Given the description of an element on the screen output the (x, y) to click on. 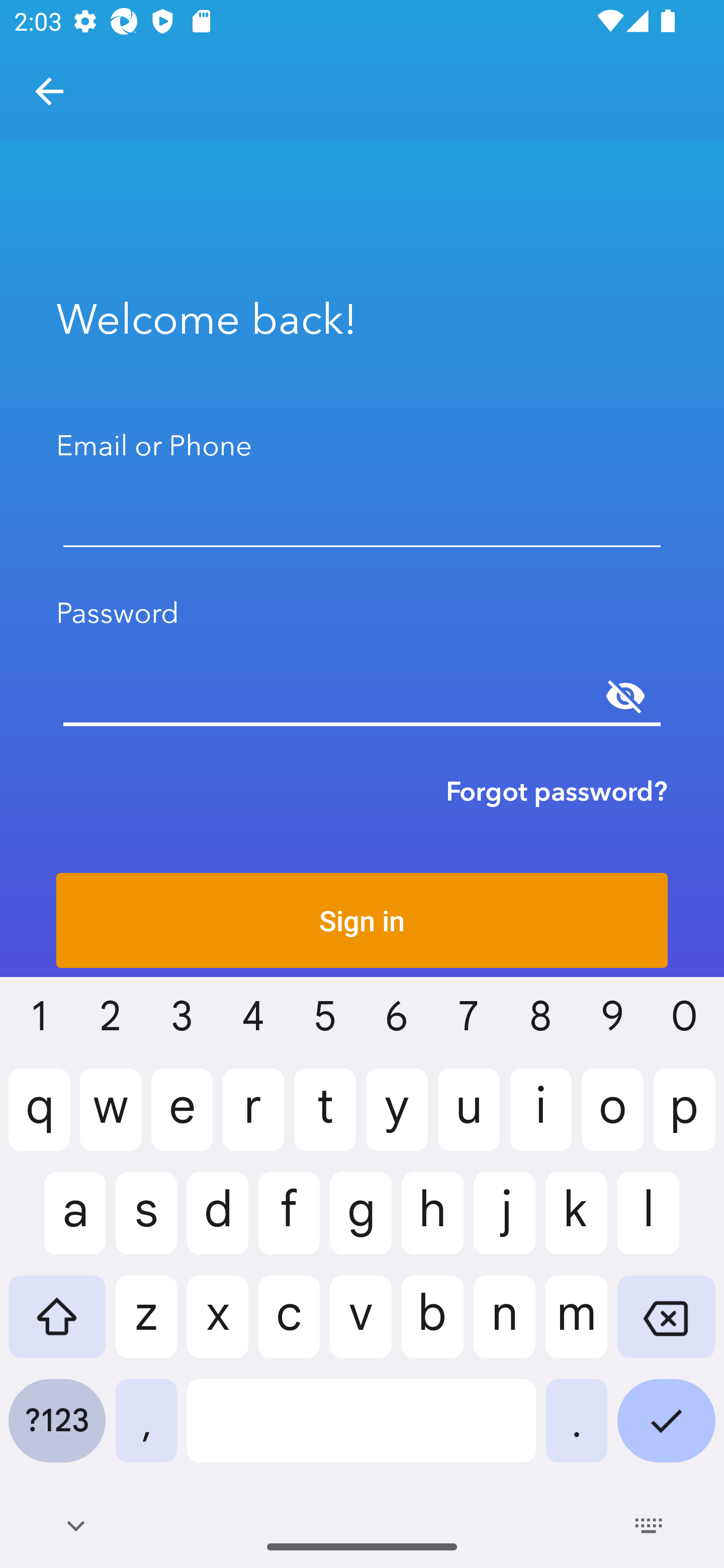
Navigate up (49, 91)
Show password (625, 695)
Forgot password? (556, 790)
Sign in (361, 920)
